Given the description of an element on the screen output the (x, y) to click on. 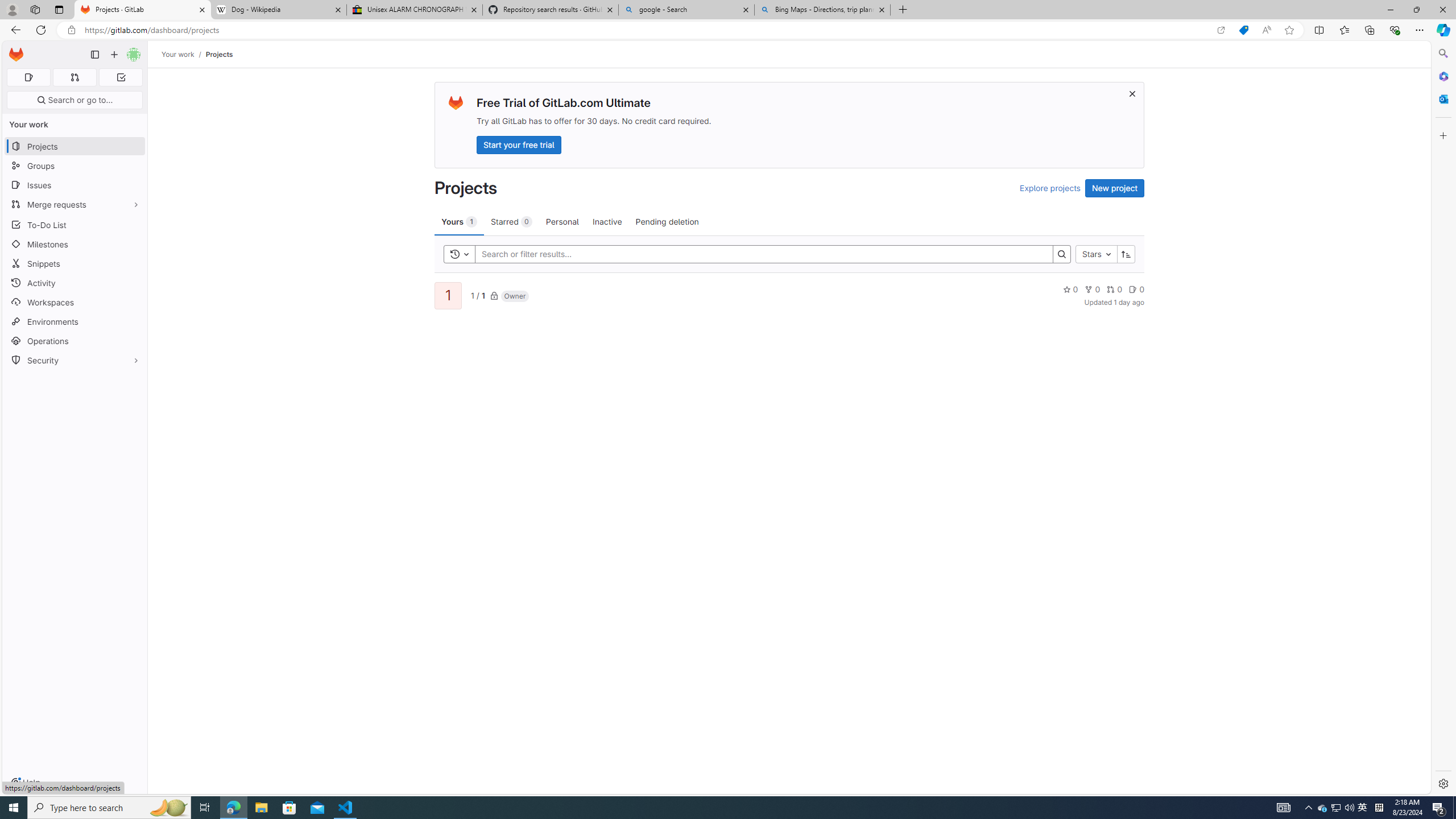
Stars (1096, 253)
Shopping in Microsoft Edge (1243, 29)
To-Do list 0 (120, 76)
To-Do List (74, 224)
Class: s14 gl-mr-2 (1132, 289)
Personal (561, 221)
Class: s16 (494, 295)
Merge requests (74, 203)
New project (1114, 187)
Projects (218, 53)
